Given the description of an element on the screen output the (x, y) to click on. 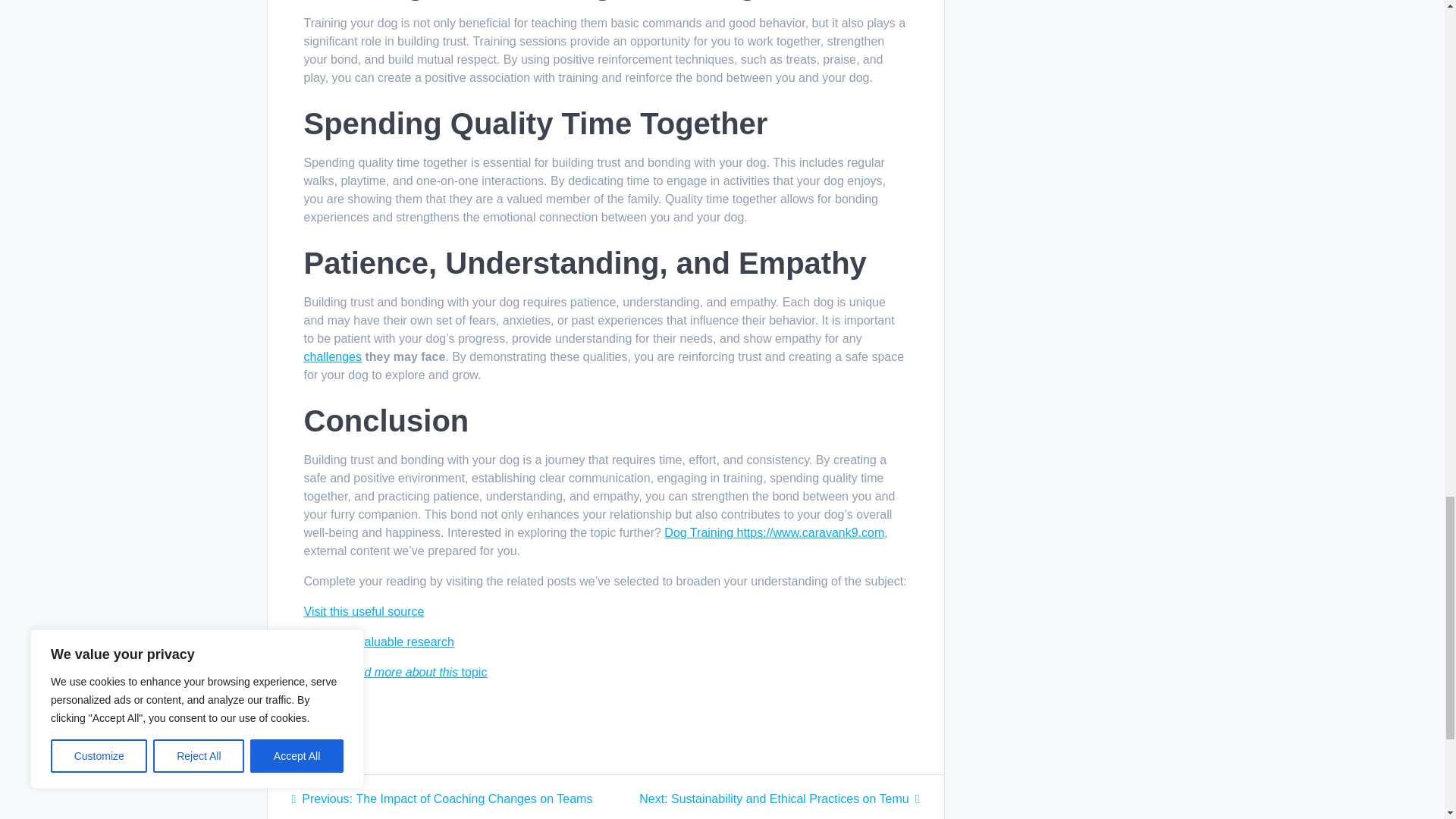
Read this valuable research (377, 641)
Visit this useful source (362, 611)
challenges (331, 356)
Click to read more about this topic (394, 671)
NEWEST (336, 728)
